Given the description of an element on the screen output the (x, y) to click on. 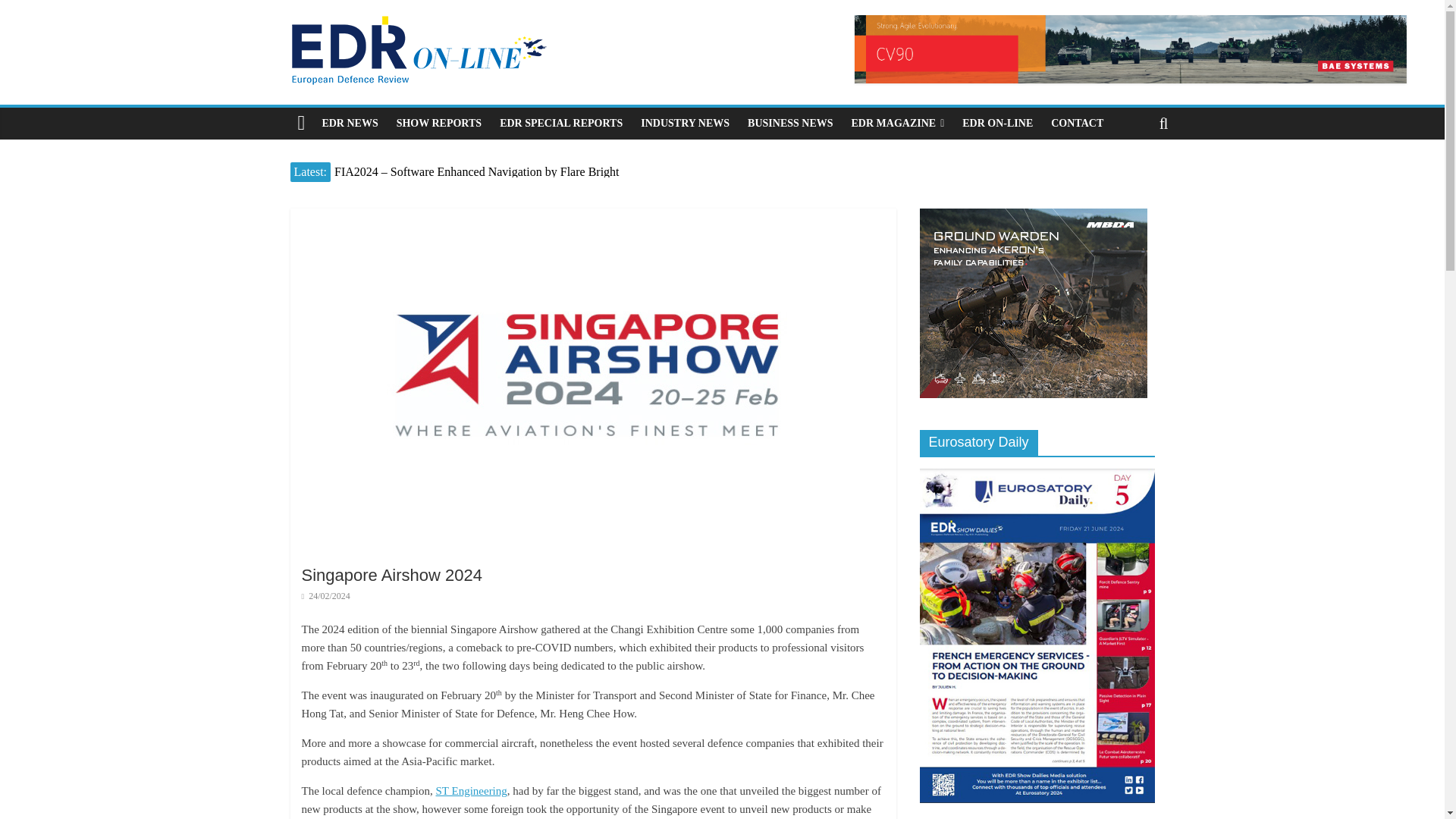
EDR SPECIAL REPORTS (560, 123)
CONTACT (1077, 123)
Industry Press (684, 123)
EDR NEWS (350, 123)
INDUSTRY NEWS (684, 123)
ST Engineering (470, 790)
EDR MAGAZINE (898, 123)
16:30 (325, 595)
SHOW REPORTS (438, 123)
EDR ON-LINE (997, 123)
EDR News (350, 123)
BUSINESS NEWS (789, 123)
